Given the description of an element on the screen output the (x, y) to click on. 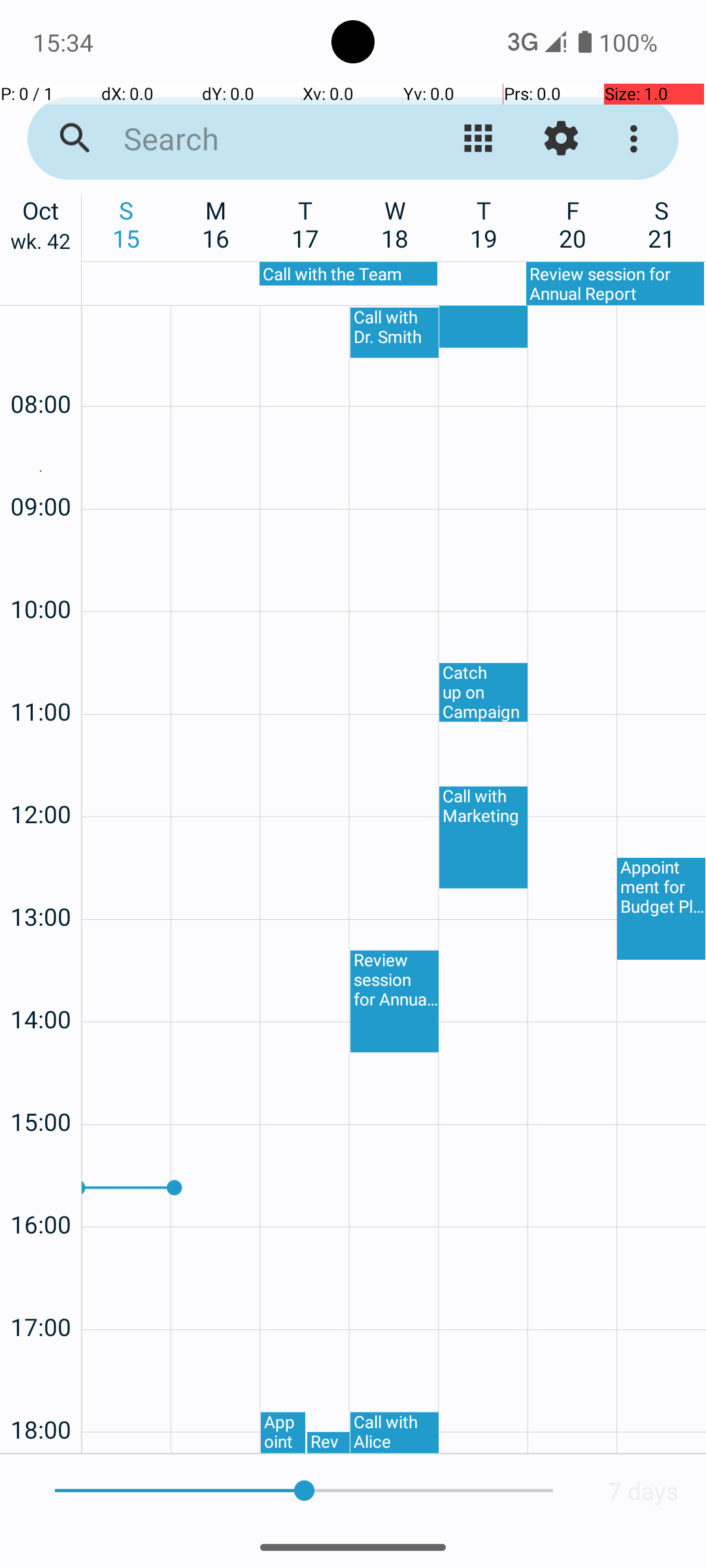
wk. 42 Element type: android.widget.TextView (40, 243)
7 days Element type: android.widget.TextView (642, 1490)
08:00 Element type: android.widget.TextView (40, 368)
10:00 Element type: android.widget.TextView (40, 573)
11:00 Element type: android.widget.TextView (40, 676)
12:00 Element type: android.widget.TextView (40, 778)
13:00 Element type: android.widget.TextView (40, 881)
14:00 Element type: android.widget.TextView (40, 983)
15:00 Element type: android.widget.TextView (40, 1086)
17:00 Element type: android.widget.TextView (40, 1291)
18:00 Element type: android.widget.TextView (40, 1394)
19:00 Element type: android.widget.TextView (40, 1449)
S
15 Element type: android.widget.TextView (126, 223)
M
16 Element type: android.widget.TextView (215, 223)
T
17 Element type: android.widget.TextView (305, 223)
W
18 Element type: android.widget.TextView (394, 223)
T
19 Element type: android.widget.TextView (483, 223)
F
20 Element type: android.widget.TextView (572, 223)
S
21 Element type: android.widget.TextView (661, 223)
Call with the Team Element type: android.widget.TextView (348, 273)
Review session for Annual Report Element type: android.widget.TextView (615, 283)
Appointment for Budget Planning Element type: android.widget.TextView (282, 1432)
Call with Alice Element type: android.widget.TextView (394, 1432)
Call with Dr. Smith Element type: android.widget.TextView (394, 332)
Call with Marketing Element type: android.widget.TextView (483, 837)
Workshop on Annual Report Element type: android.widget.TextView (483, 326)
Catch up on Campaign Element type: android.widget.TextView (483, 692)
